Given the description of an element on the screen output the (x, y) to click on. 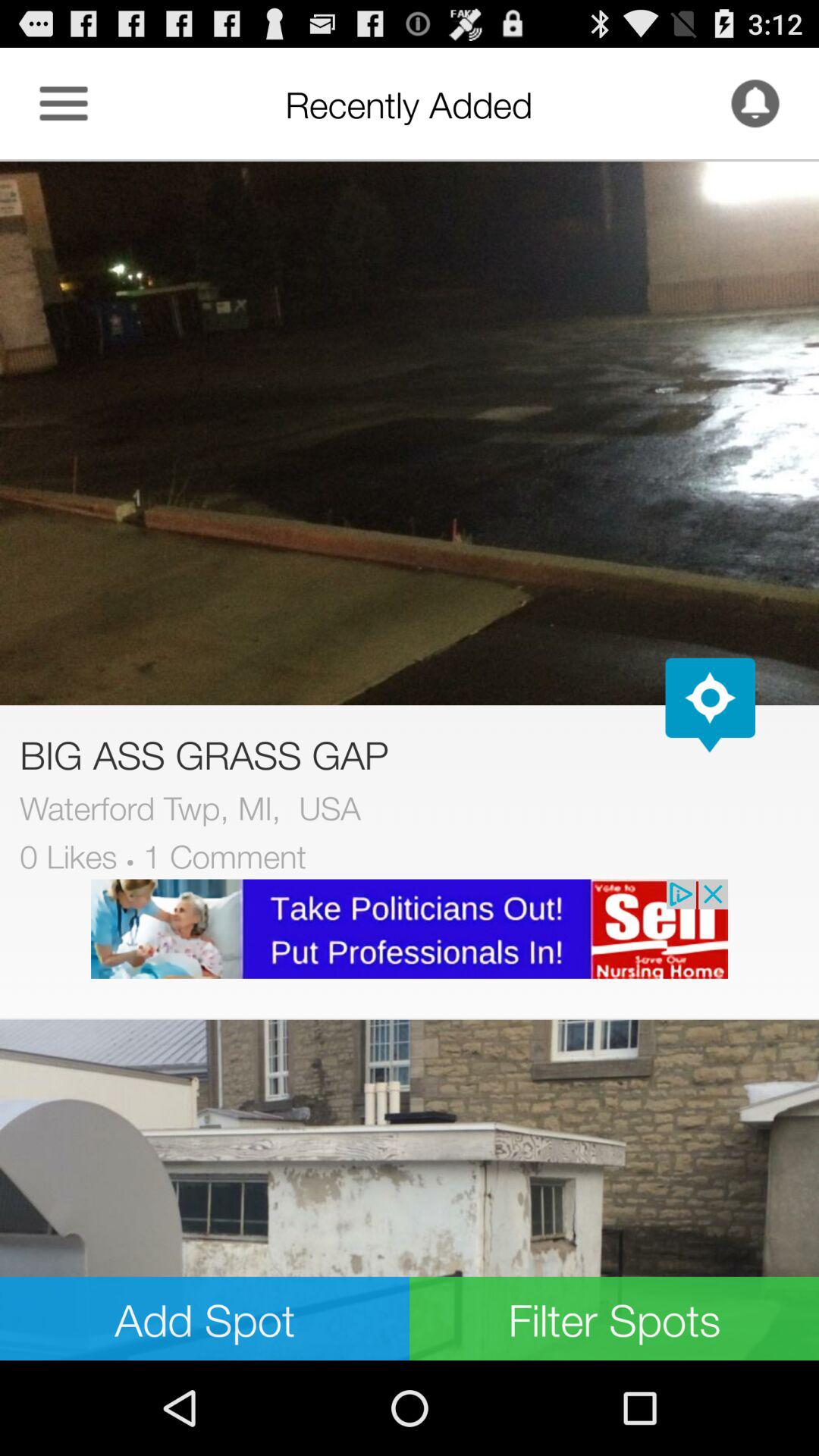
open menu (63, 103)
